Given the description of an element on the screen output the (x, y) to click on. 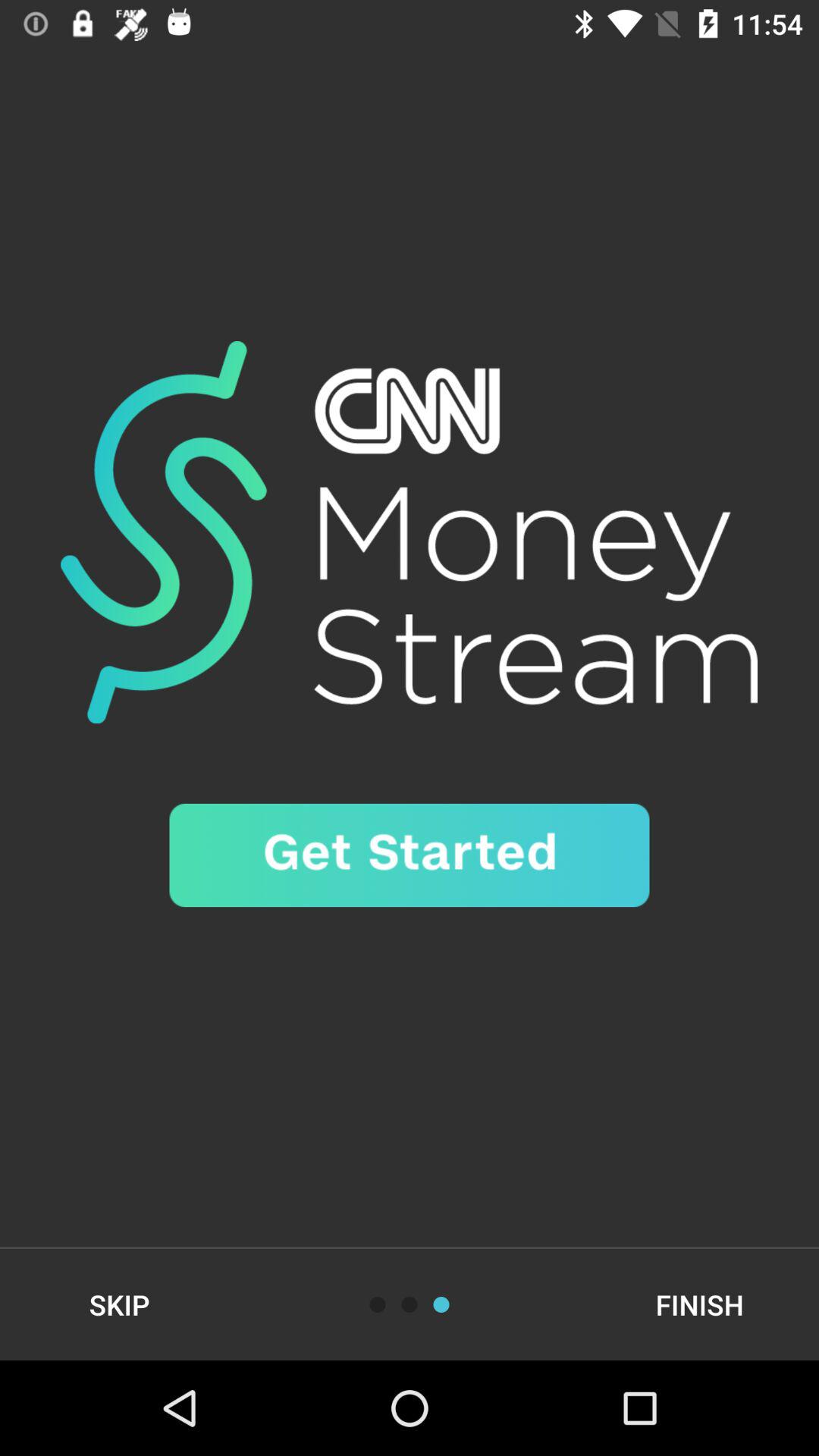
button to read the information given (441, 1304)
